Given the description of an element on the screen output the (x, y) to click on. 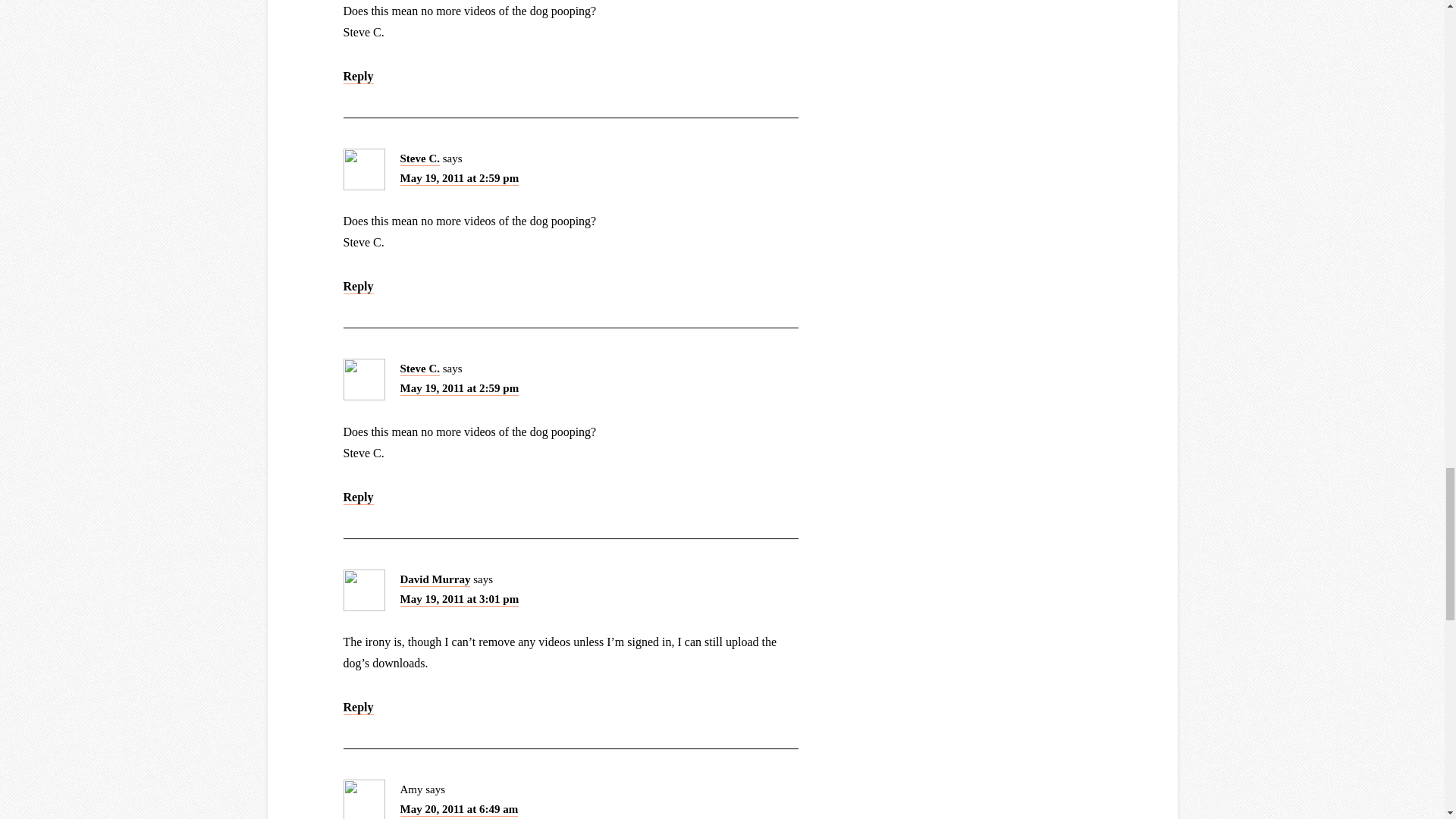
May 19, 2011 at 2:59 pm (459, 388)
Reply (357, 287)
Steve C. (420, 158)
May 19, 2011 at 2:59 pm (459, 178)
Steve C. (420, 368)
May 20, 2011 at 6:49 am (459, 809)
Reply (357, 707)
Reply (357, 76)
May 19, 2011 at 3:01 pm (459, 599)
Reply (357, 496)
David Murray (435, 580)
